Given the description of an element on the screen output the (x, y) to click on. 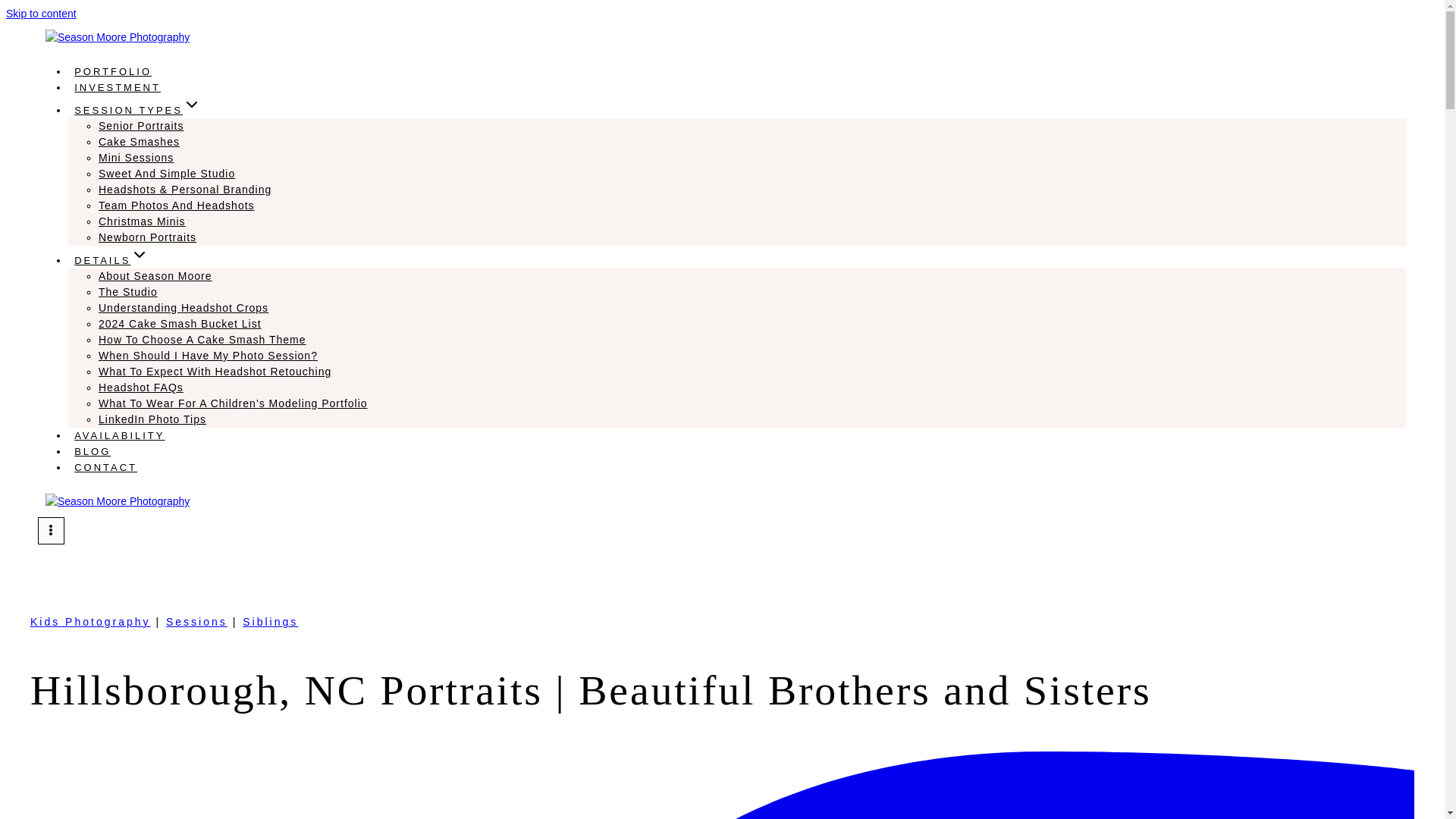
Understanding Headshot Crops (183, 307)
When Should I Have My Photo Session? (208, 355)
Sweet And Simple Studio (166, 173)
Toggle Menu (50, 530)
LinkedIn Photo Tips (152, 419)
Sessions (196, 621)
Senior Portraits (141, 125)
How To Choose A Cake Smash Theme (202, 339)
Kids Photography (90, 621)
Christmas Minis (142, 221)
2024 Cake Smash Bucket List (180, 323)
About Season Moore (155, 275)
BLOG (92, 451)
PORTFOLIO (112, 71)
The Studio (128, 291)
